Given the description of an element on the screen output the (x, y) to click on. 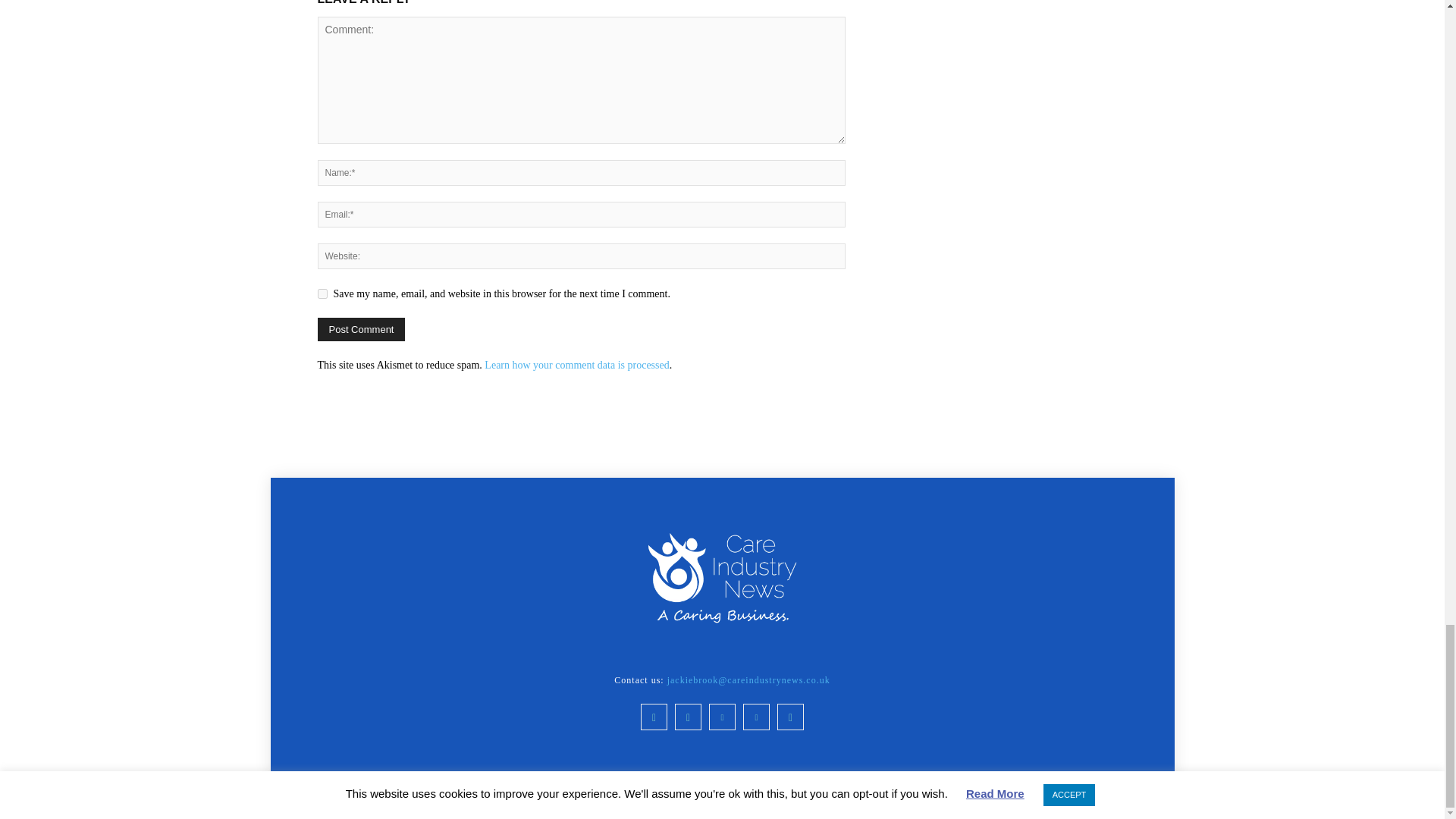
yes (321, 293)
Post Comment (360, 329)
